Given the description of an element on the screen output the (x, y) to click on. 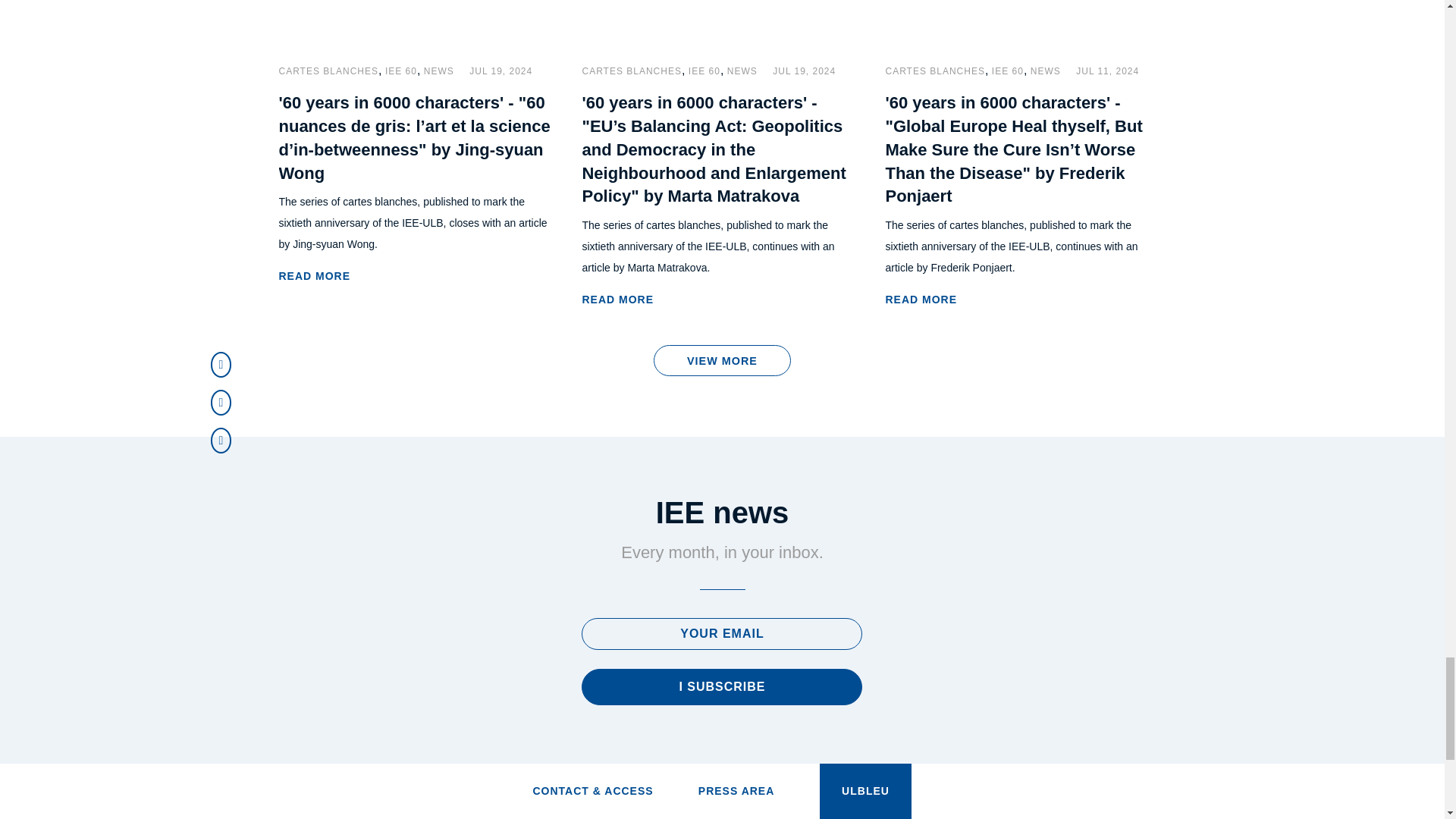
I subscribe (720, 687)
